Given the description of an element on the screen output the (x, y) to click on. 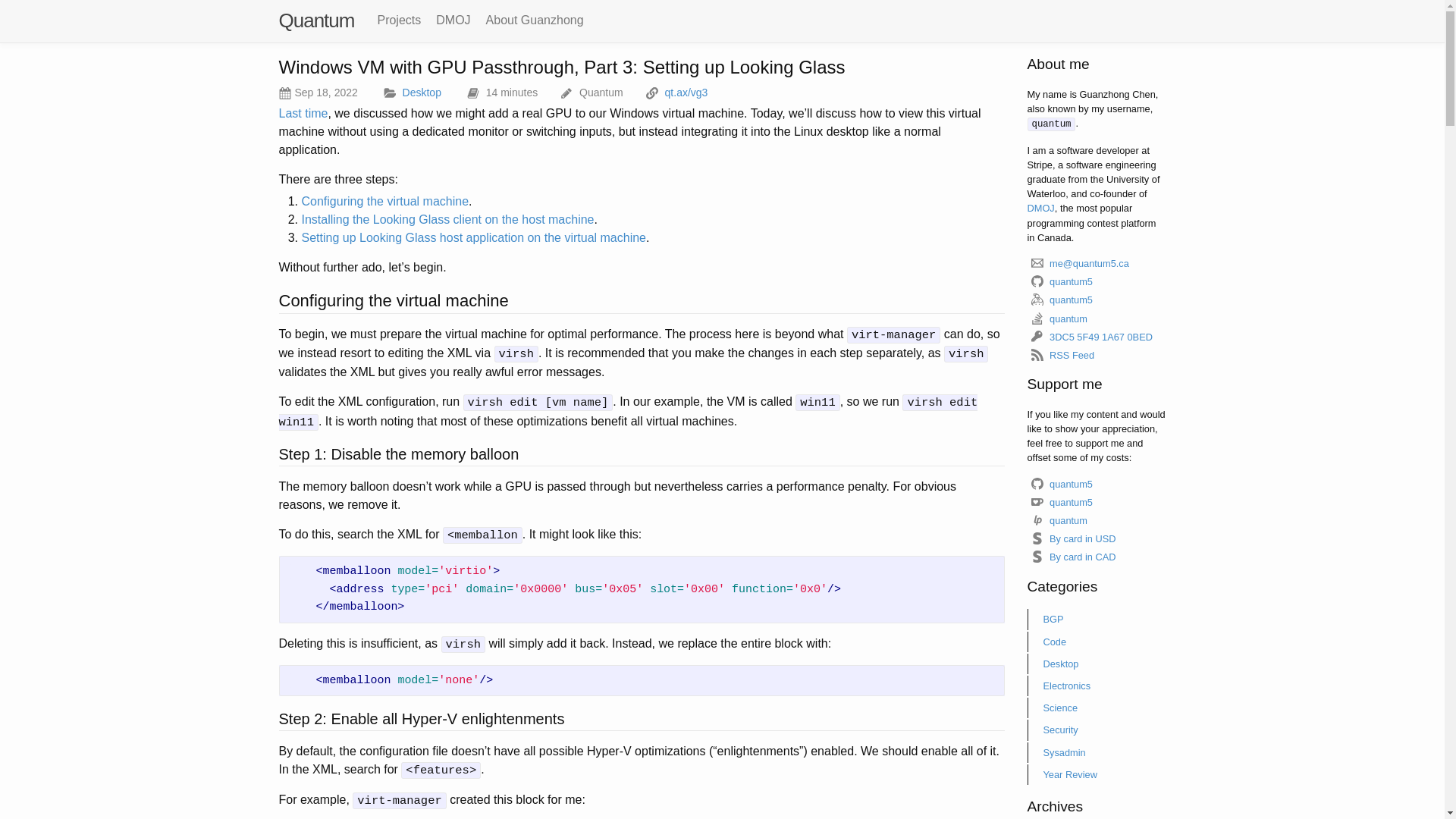
DMOJ Element type: text (1040, 207)
Year Review Element type: text (1095, 774)
qt.ax/vg3 Element type: text (686, 92)
Last time Element type: text (303, 112)
BGP Element type: text (1095, 618)
Projects Element type: text (398, 19)
quantum5 Element type: text (1060, 299)
Desktop Element type: text (1095, 663)
Science Element type: text (1095, 707)
Desktop Element type: text (421, 92)
Electronics Element type: text (1095, 685)
Security Element type: text (1095, 729)
quantum5 Element type: text (1060, 483)
me@quantum5.ca Element type: text (1079, 263)
Sysadmin Element type: text (1095, 752)
Code Element type: text (1095, 641)
quantum5 Element type: text (1060, 501)
About Guanzhong Element type: text (534, 19)
RSS Feed Element type: text (1062, 354)
quantum Element type: text (1058, 520)
DMOJ Element type: text (453, 19)
Configuring the virtual machine Element type: text (385, 200)
Installing the Looking Glass client on the host machine Element type: text (447, 219)
Quantum Element type: text (316, 20)
quantum5 Element type: text (1060, 281)
3DC5 5F49 1A67 0BED Element type: text (1090, 336)
By card in USD Element type: text (1072, 538)
By card in CAD Element type: text (1072, 556)
quantum Element type: text (1058, 318)
